Given the description of an element on the screen output the (x, y) to click on. 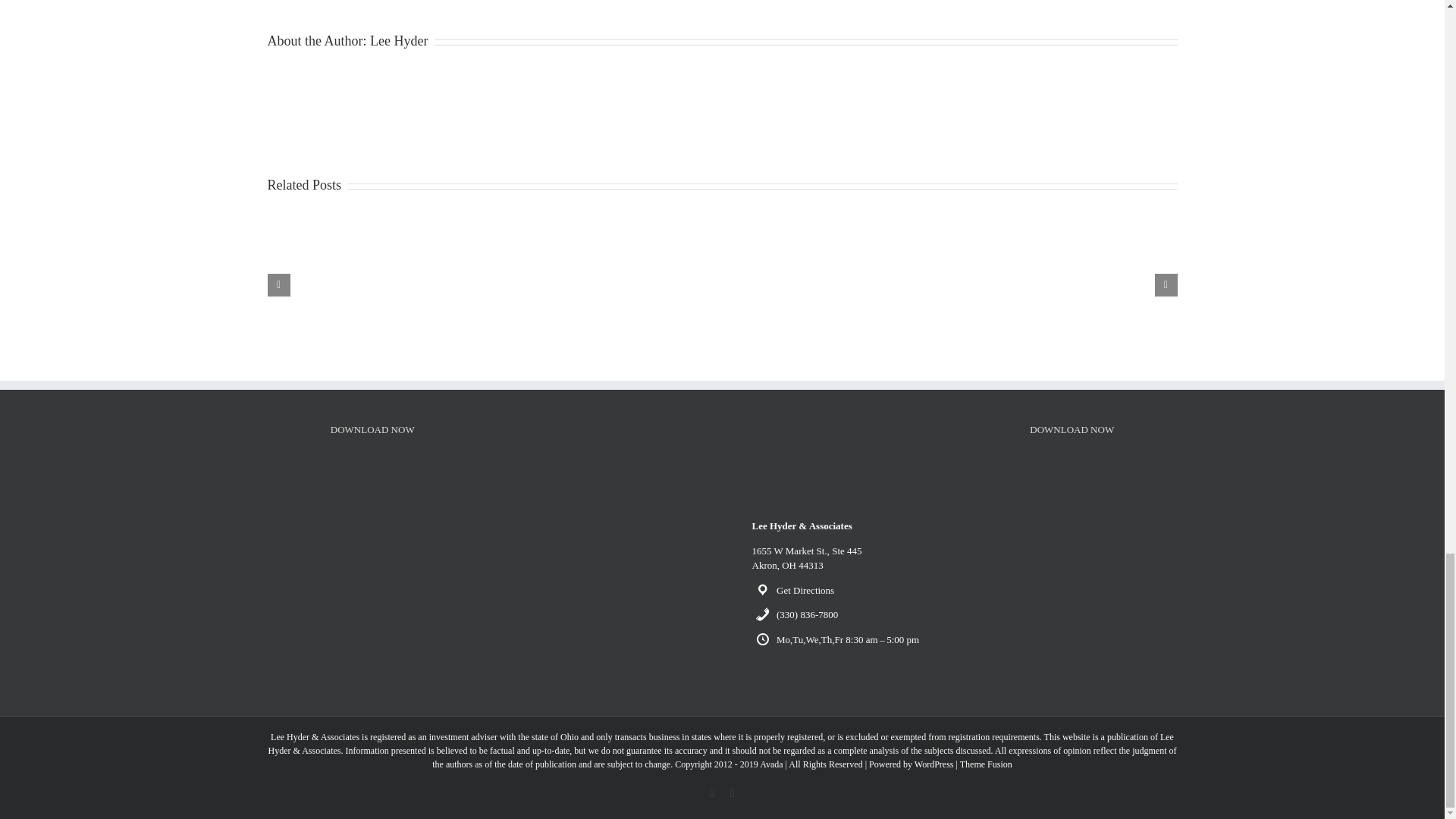
Posts by Lee Hyder (398, 40)
